Given the description of an element on the screen output the (x, y) to click on. 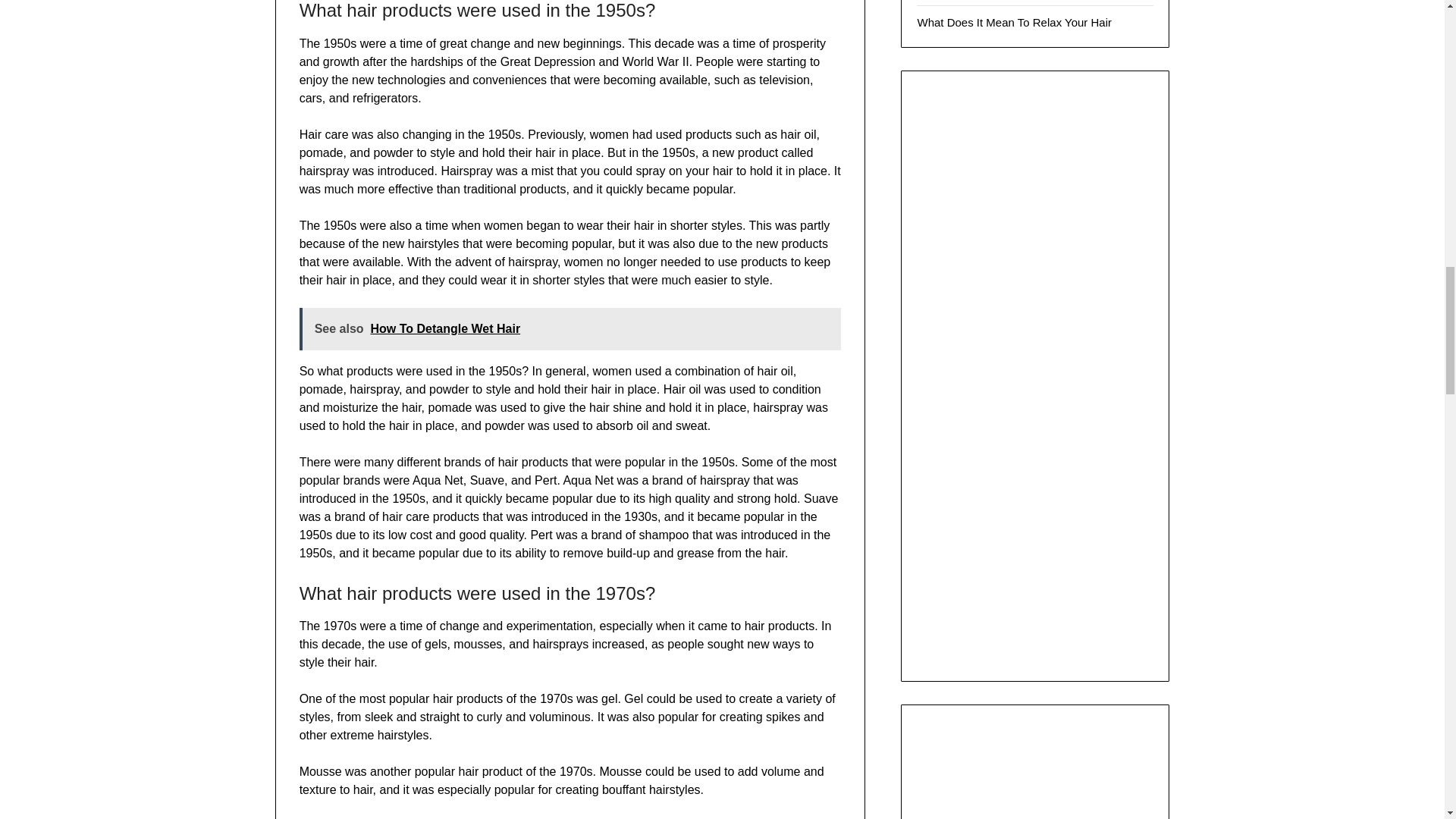
See also  How To Detangle Wet Hair (570, 328)
Spotify Embed: Let It Be - Remastered 2009 (1035, 775)
